Given the description of an element on the screen output the (x, y) to click on. 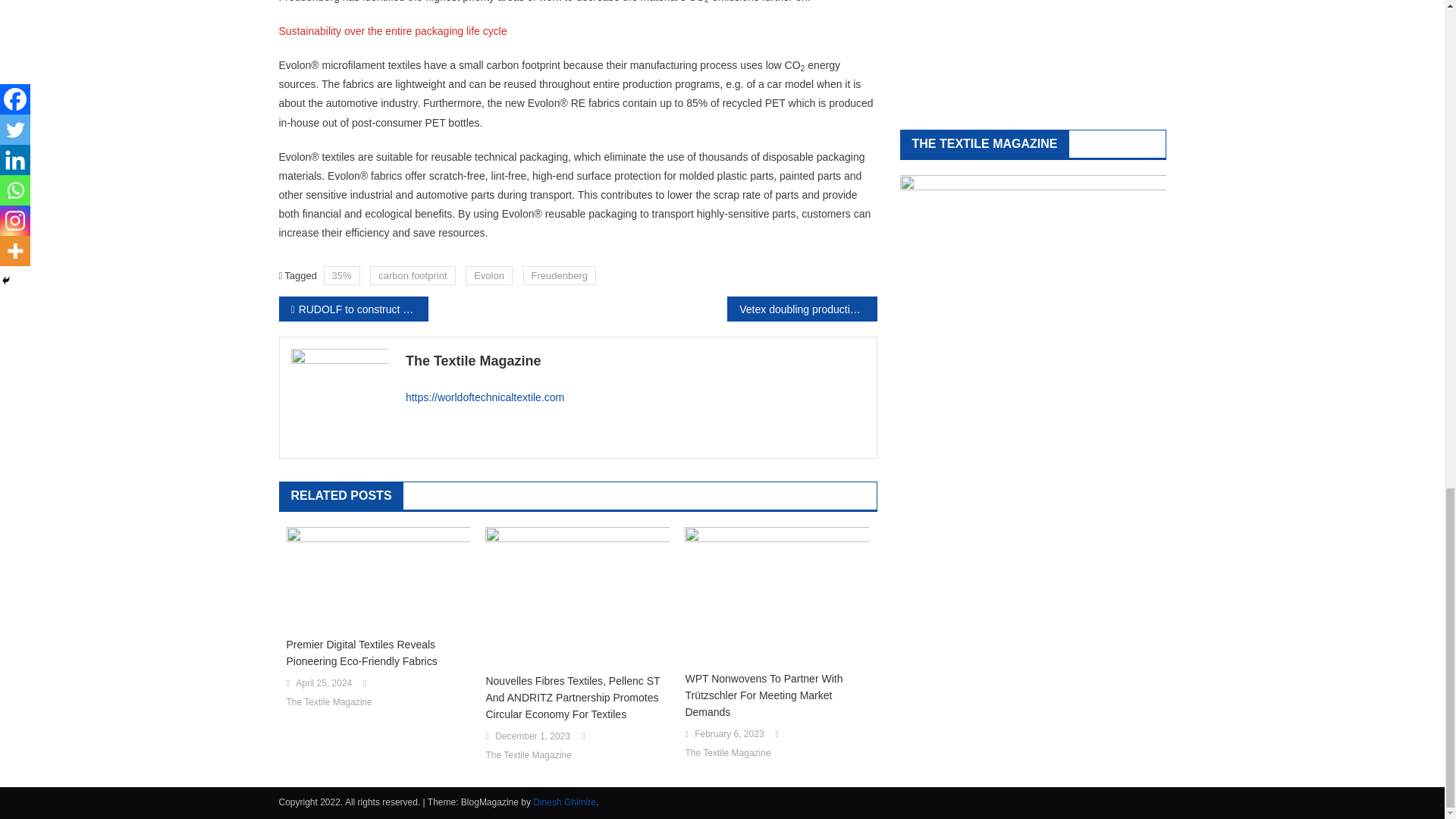
RUDOLF to construct new facility in Bangladesh (353, 308)
Freudenberg (558, 275)
carbon footprint (411, 275)
DIGITAL EDITION (1032, 53)
Evolon (488, 275)
